Given the description of an element on the screen output the (x, y) to click on. 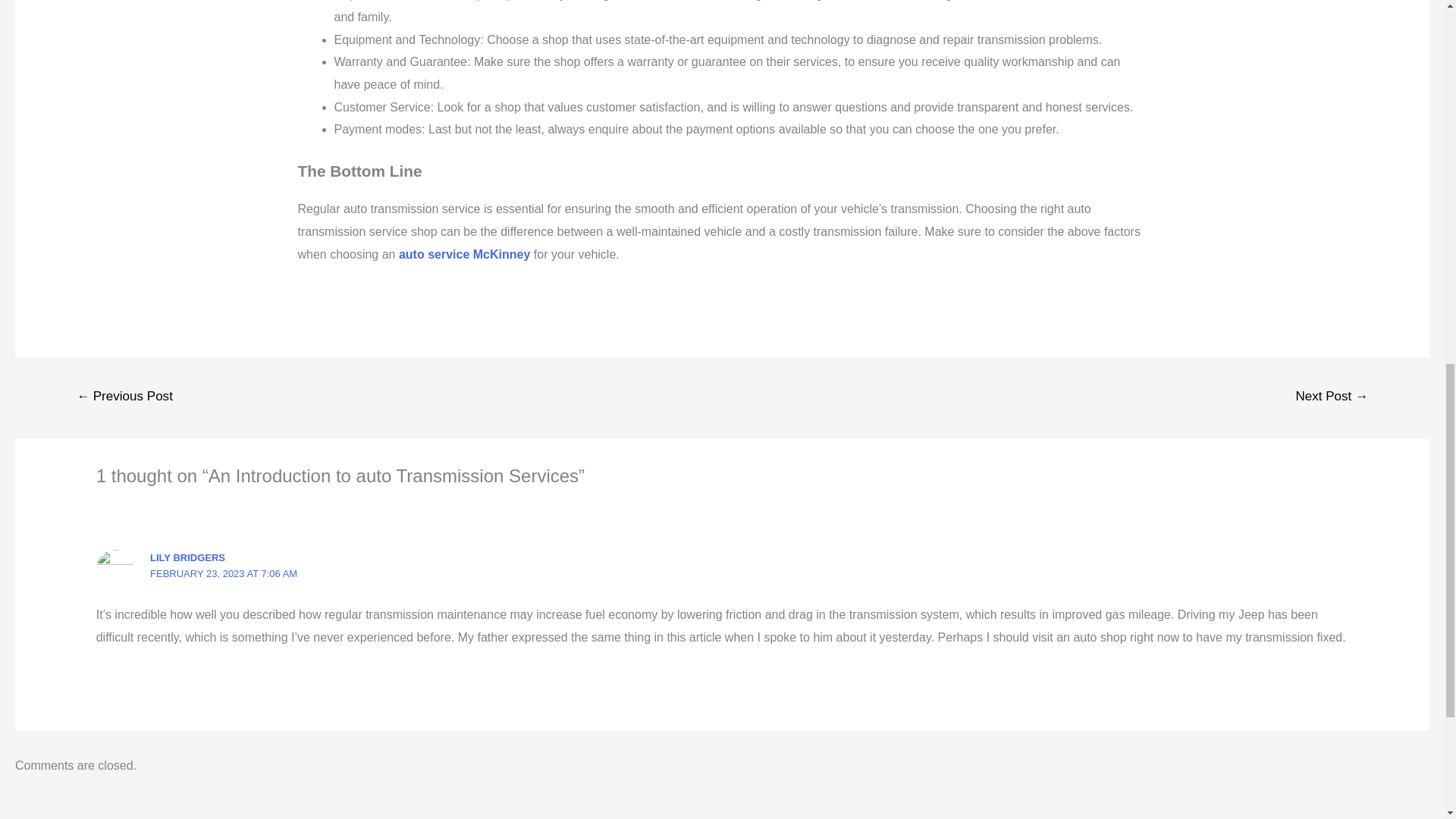
FEBRUARY 23, 2023 AT 7:06 AM (223, 573)
LILY BRIDGERS (187, 557)
auto service McKinney (463, 254)
